Given the description of an element on the screen output the (x, y) to click on. 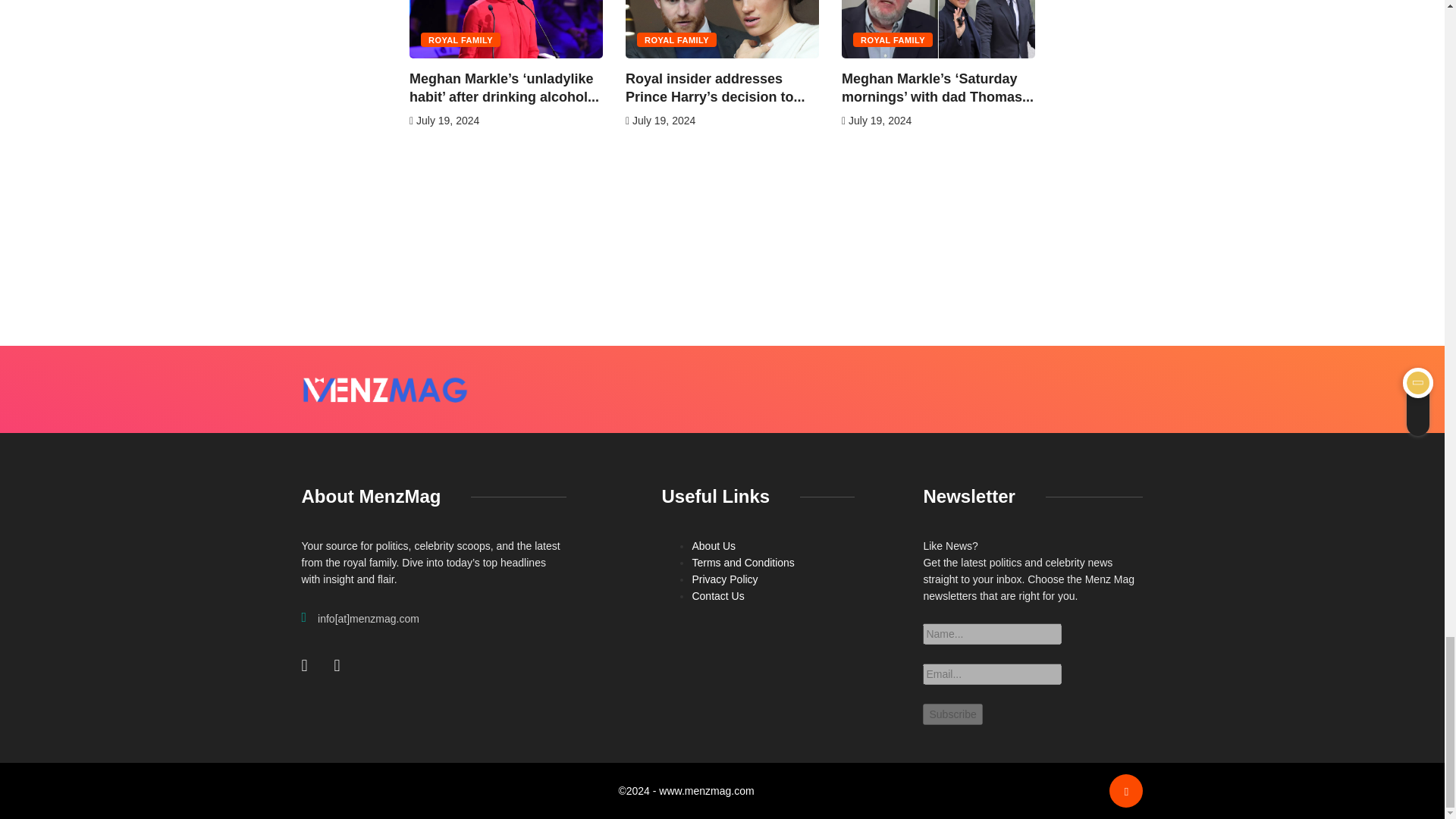
Subscribe (952, 713)
